Given the description of an element on the screen output the (x, y) to click on. 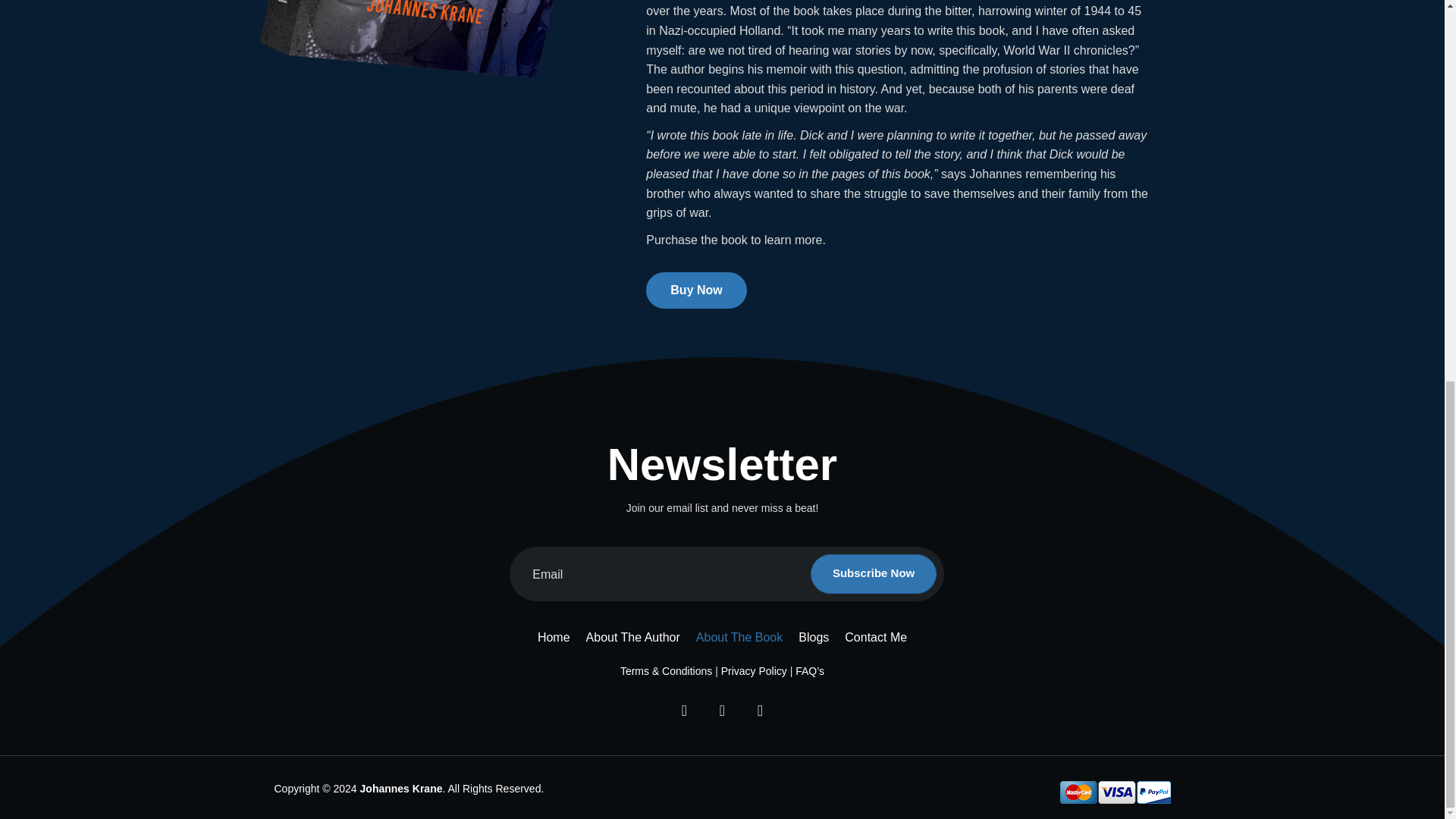
payment (1114, 792)
Blogs (812, 637)
Privacy Policy (753, 671)
Contact Me (875, 637)
Facebook (683, 710)
Twitter (721, 710)
Buy Now (695, 289)
About The Author (632, 637)
Home (553, 637)
book (441, 42)
Instagram (759, 710)
About The Book (739, 637)
Subscribe Now (873, 573)
